Given the description of an element on the screen output the (x, y) to click on. 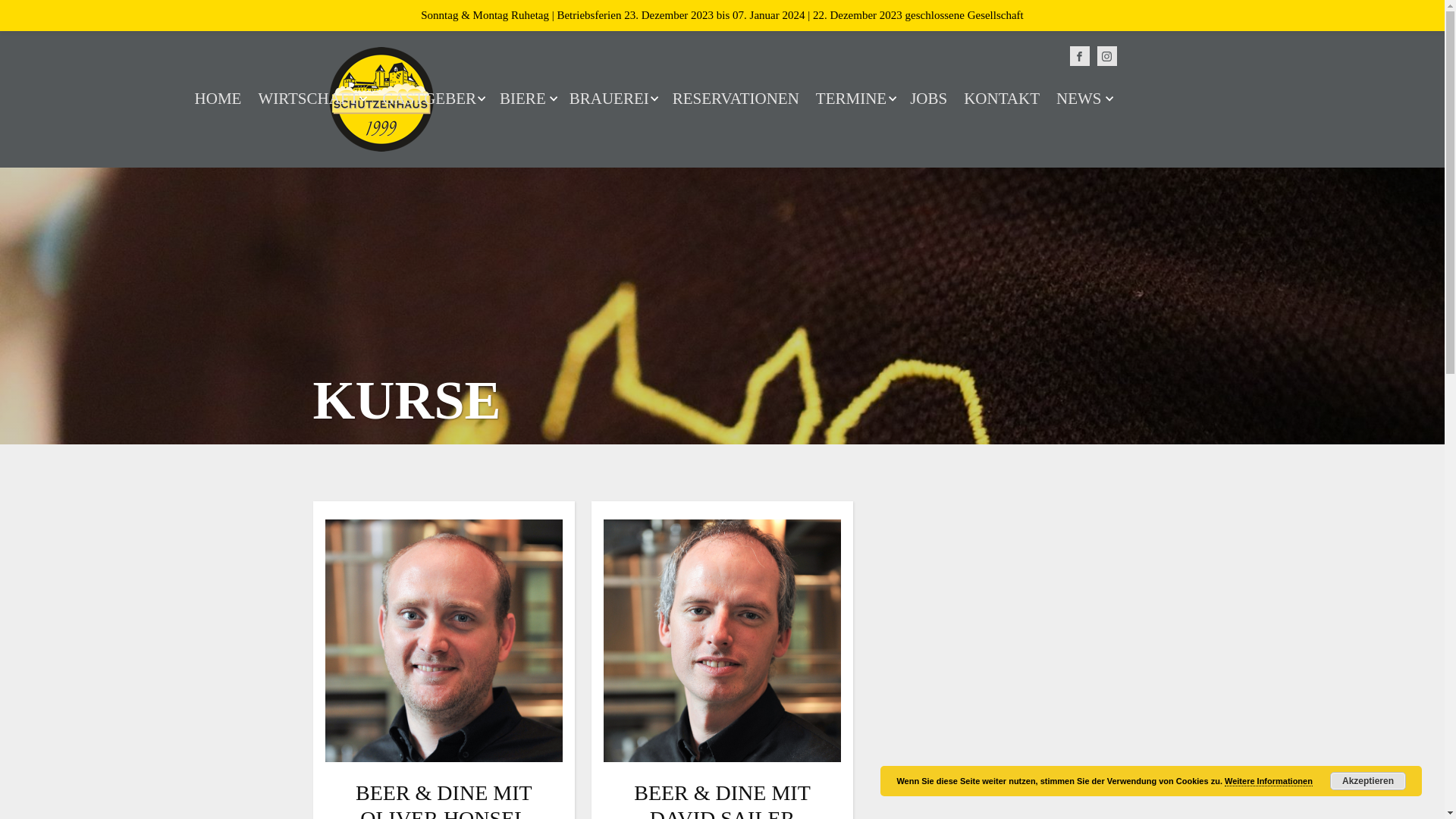
BRAUEREI Element type: text (612, 98)
TERMINE Element type: text (854, 98)
Weitere Informationen Element type: text (1268, 781)
Akzeptieren Element type: text (1367, 780)
BIERE Element type: text (526, 98)
KONTAKT Element type: text (1001, 98)
WIRTSCHAFT Element type: text (311, 98)
GASTGEBER Element type: text (432, 98)
RESERVATIONEN Element type: text (735, 98)
JOBS Element type: text (928, 98)
HOME Element type: text (218, 98)
NEWS Element type: text (1082, 98)
